Given the description of an element on the screen output the (x, y) to click on. 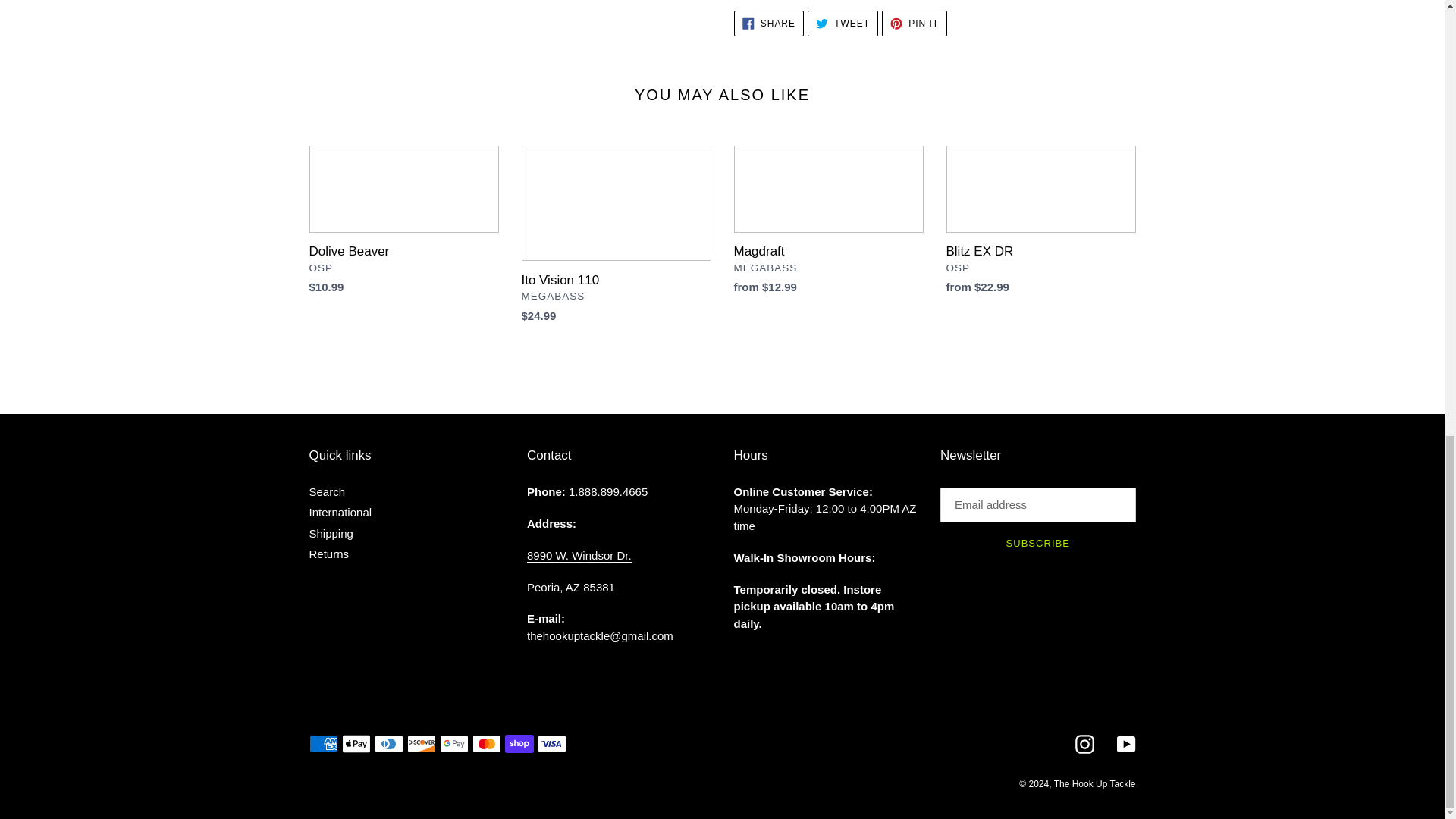
The Hook Up Tackle Map (579, 555)
